Given the description of an element on the screen output the (x, y) to click on. 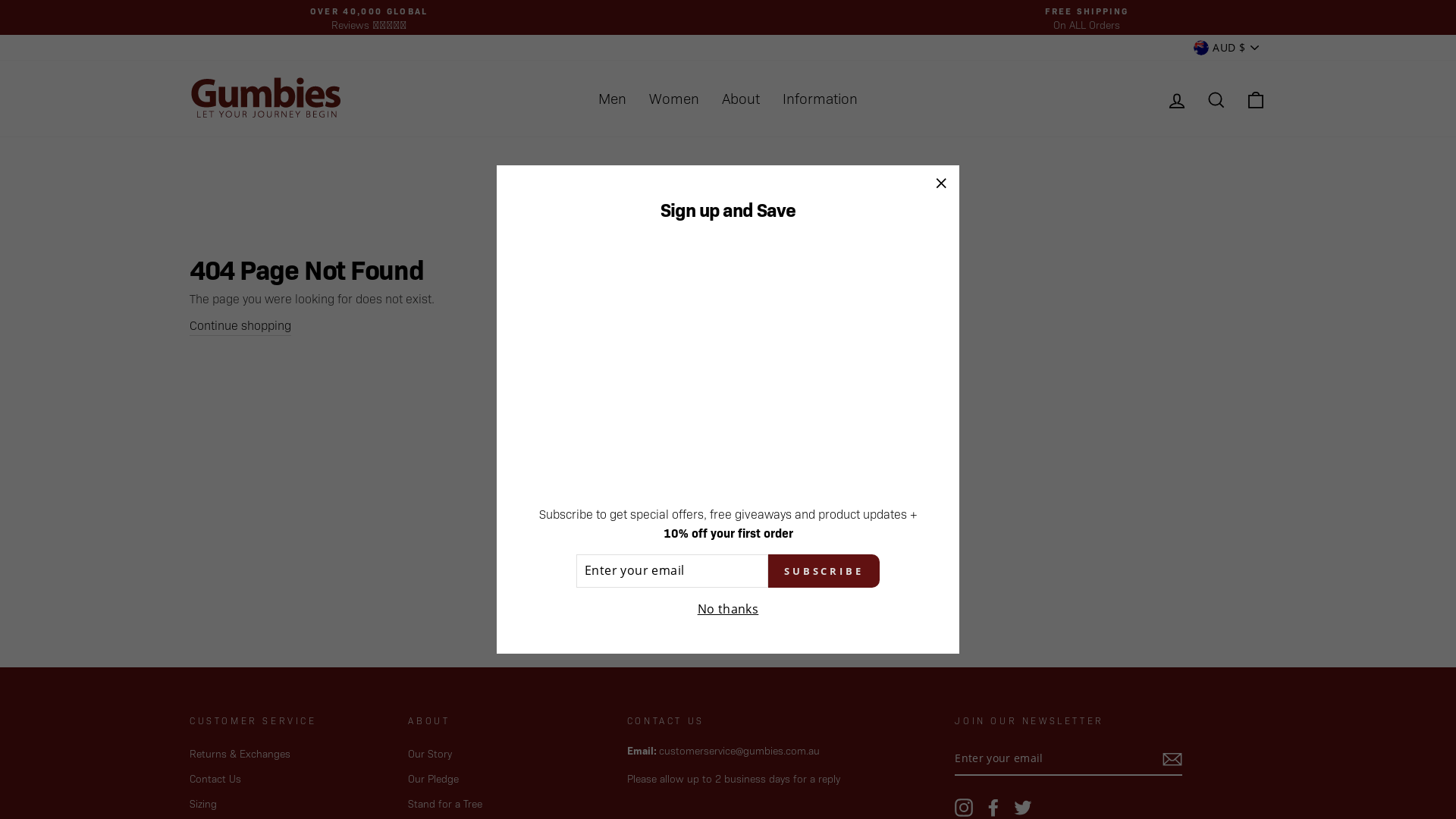
Men Element type: text (611, 98)
No thanks Element type: text (728, 609)
Cart Element type: text (1255, 98)
Contact Us Element type: text (215, 778)
About Element type: text (740, 98)
SUBSCRIBE Element type: text (823, 570)
Log in Element type: text (1176, 98)
Returns & Exchanges Element type: text (239, 753)
Information Element type: text (820, 98)
"Close (esc)" Element type: text (940, 183)
Twitter Element type: text (1022, 807)
Stand for a Tree Element type: text (444, 803)
Sizing Element type: text (202, 803)
Continue shopping Element type: text (240, 325)
Our Story Element type: text (429, 753)
Search Element type: text (1216, 98)
Women Element type: text (673, 98)
AUD $ Element type: text (1225, 46)
Facebook Element type: text (993, 807)
Our Pledge Element type: text (432, 778)
Skip to content Element type: text (0, 0)
Instagram Element type: text (963, 807)
FREE SHIPPING
On ALL Orders Element type: text (1086, 17)
